Given the description of an element on the screen output the (x, y) to click on. 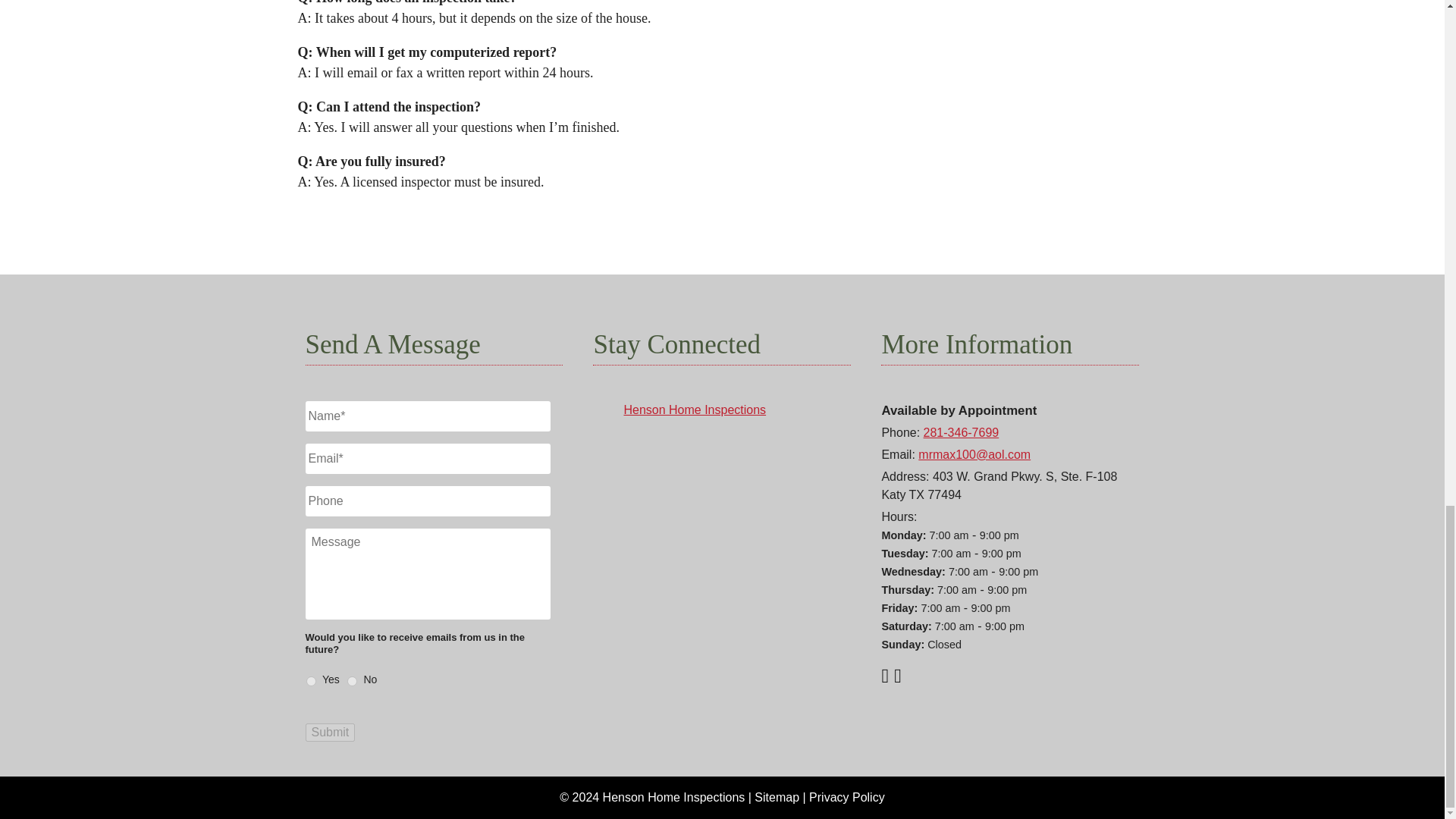
Yes (310, 681)
Submit (329, 732)
Submit (329, 732)
Henson Home Inspections (694, 409)
Privacy Policy (847, 797)
Sitemap (776, 797)
281-346-7699 (960, 431)
No (351, 681)
